Given the description of an element on the screen output the (x, y) to click on. 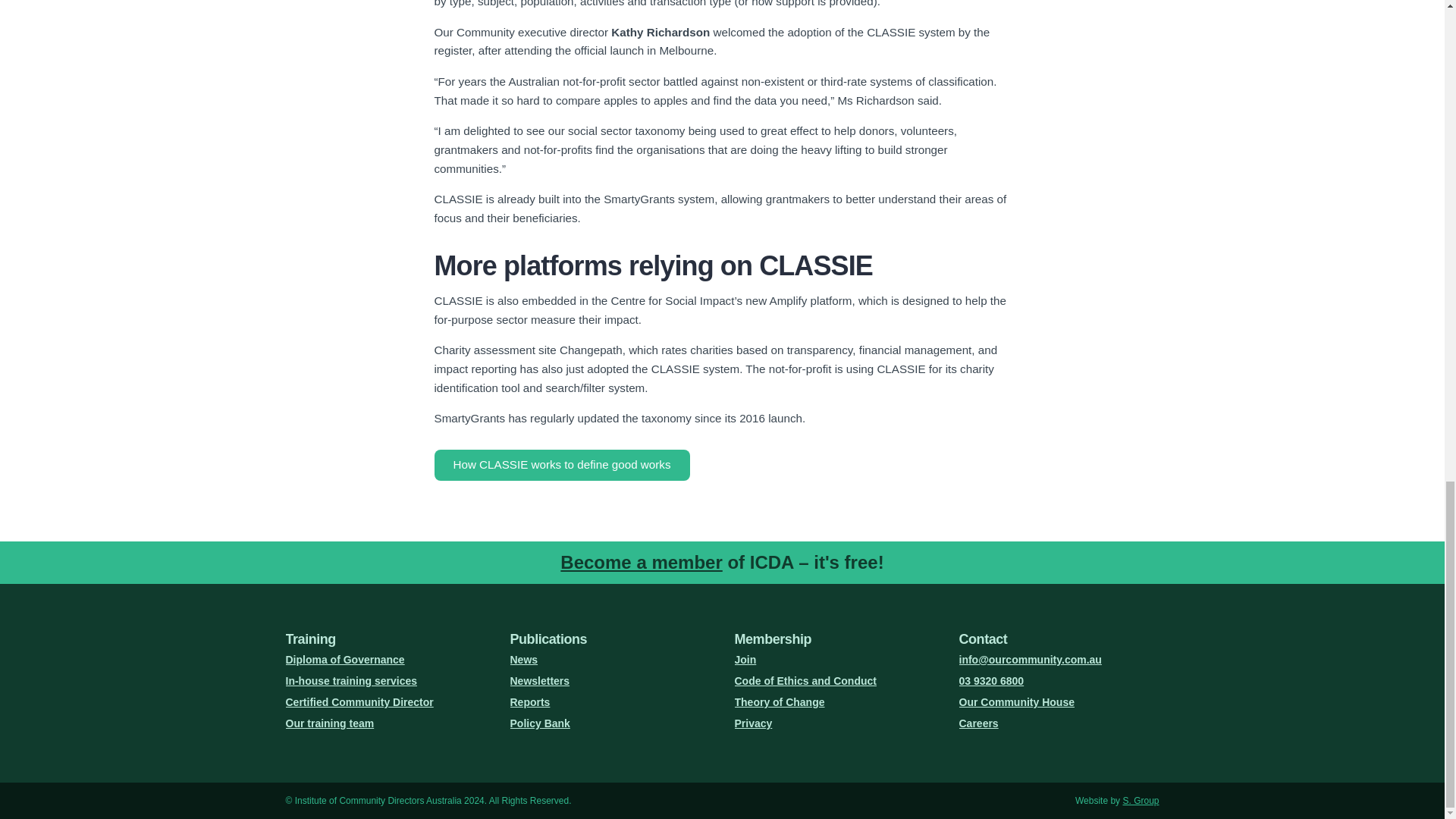
Certified Community Director (384, 701)
Privacy (833, 722)
Our training team (384, 722)
03 9320 6800 (1058, 680)
Diploma of Governance (384, 659)
News (609, 659)
In-house training services (384, 680)
Policy Bank (609, 722)
How CLASSIE works to define good works (560, 464)
Become a member (641, 562)
Reports (609, 701)
Code of Ethics and Conduct (833, 680)
Theory of Change (833, 701)
Newsletters (609, 680)
Join (833, 659)
